Given the description of an element on the screen output the (x, y) to click on. 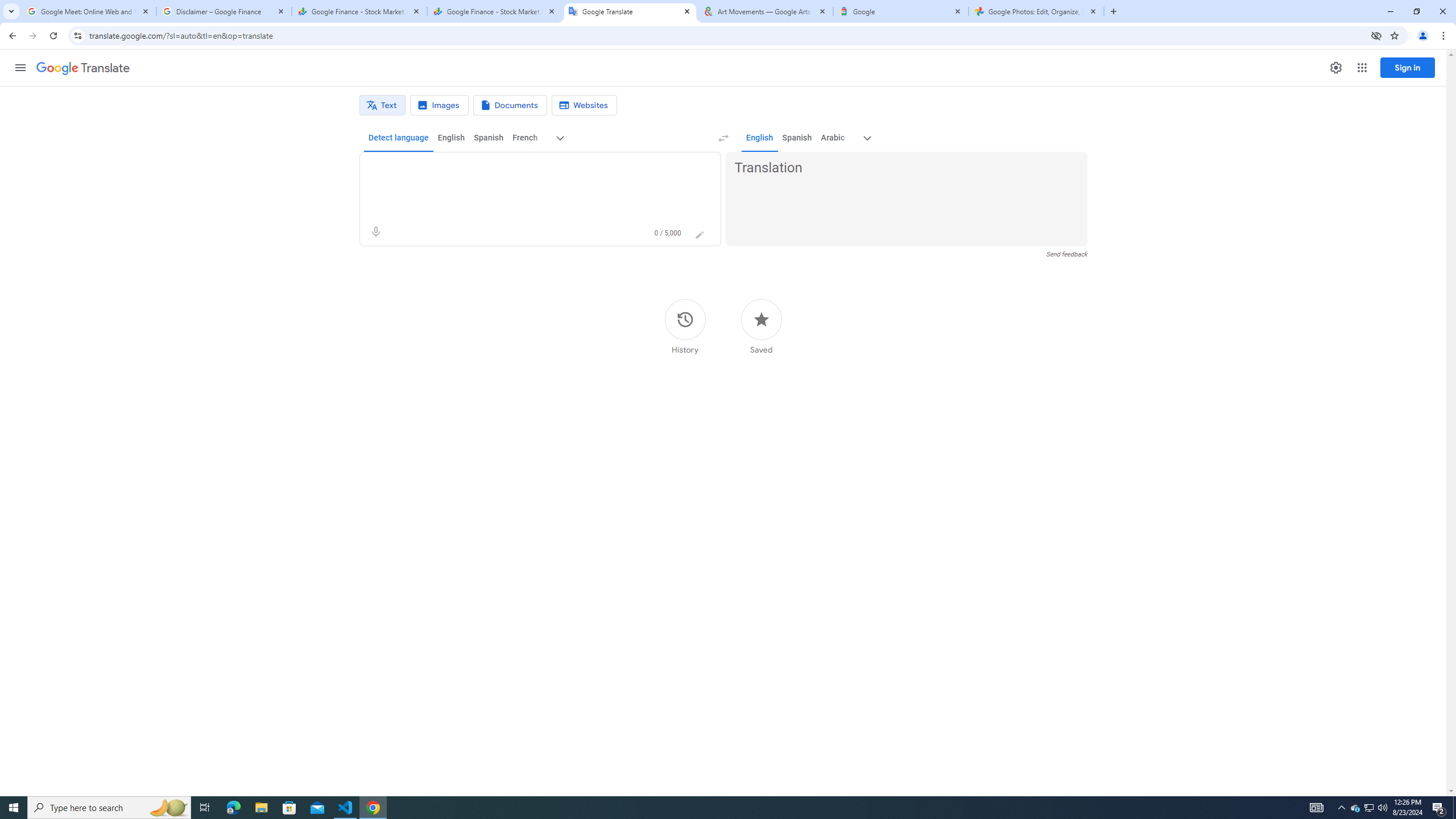
English (759, 137)
Spanish (796, 137)
Google Translate (630, 11)
More target languages (867, 137)
Detect language (398, 137)
Saved (761, 326)
Google (901, 11)
Main menu (20, 67)
Google Translate (82, 68)
